Given the description of an element on the screen output the (x, y) to click on. 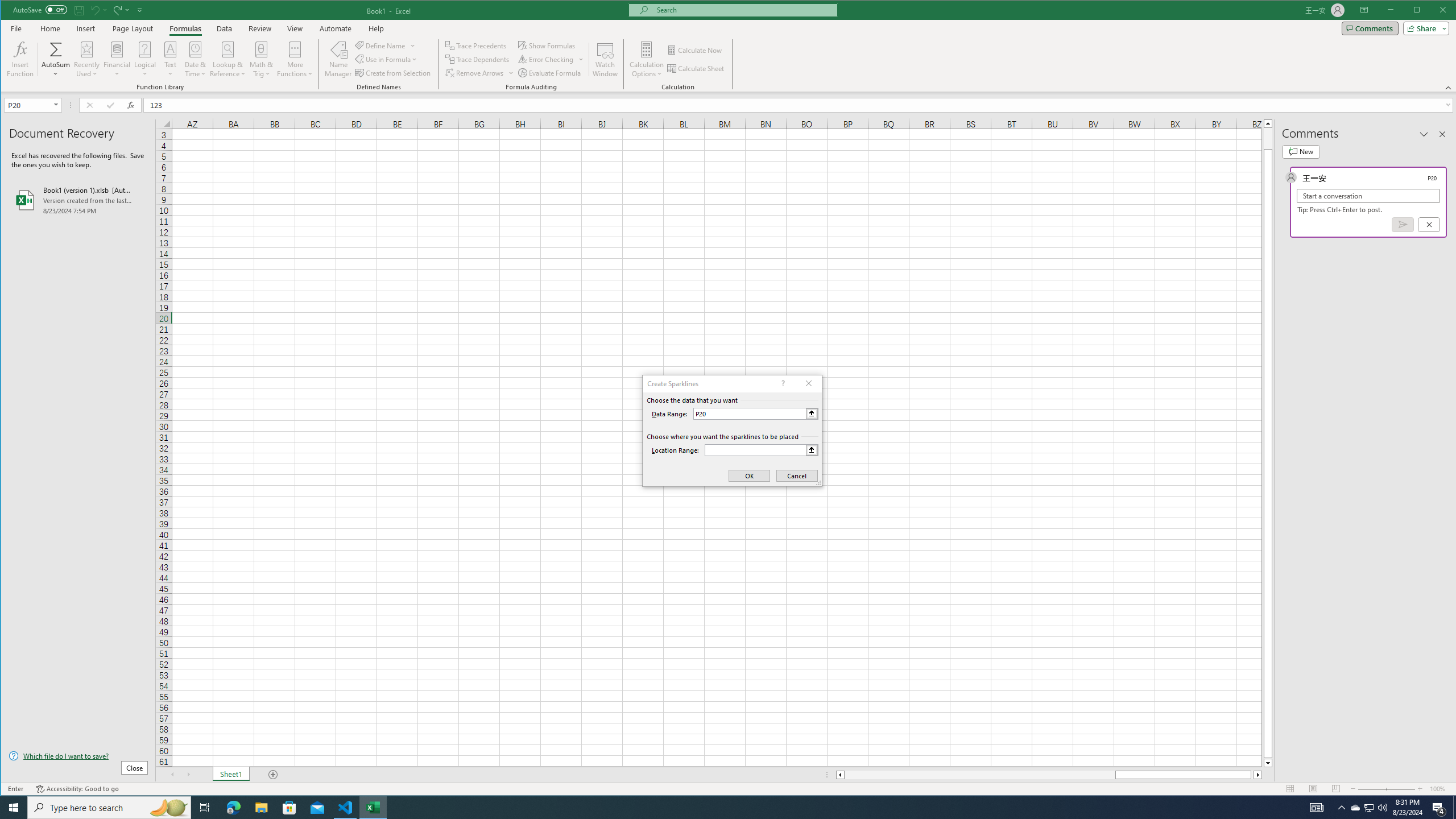
Column right (1258, 774)
Collapse the Ribbon (1448, 87)
Calculation Options (646, 59)
Zoom (1386, 788)
Quick Access Toolbar (79, 9)
Lookup & Reference (227, 59)
Comments (1369, 28)
Normal (1290, 788)
Remove Arrows (475, 72)
Start a conversation (1368, 195)
Zoom In (1420, 788)
